Given the description of an element on the screen output the (x, y) to click on. 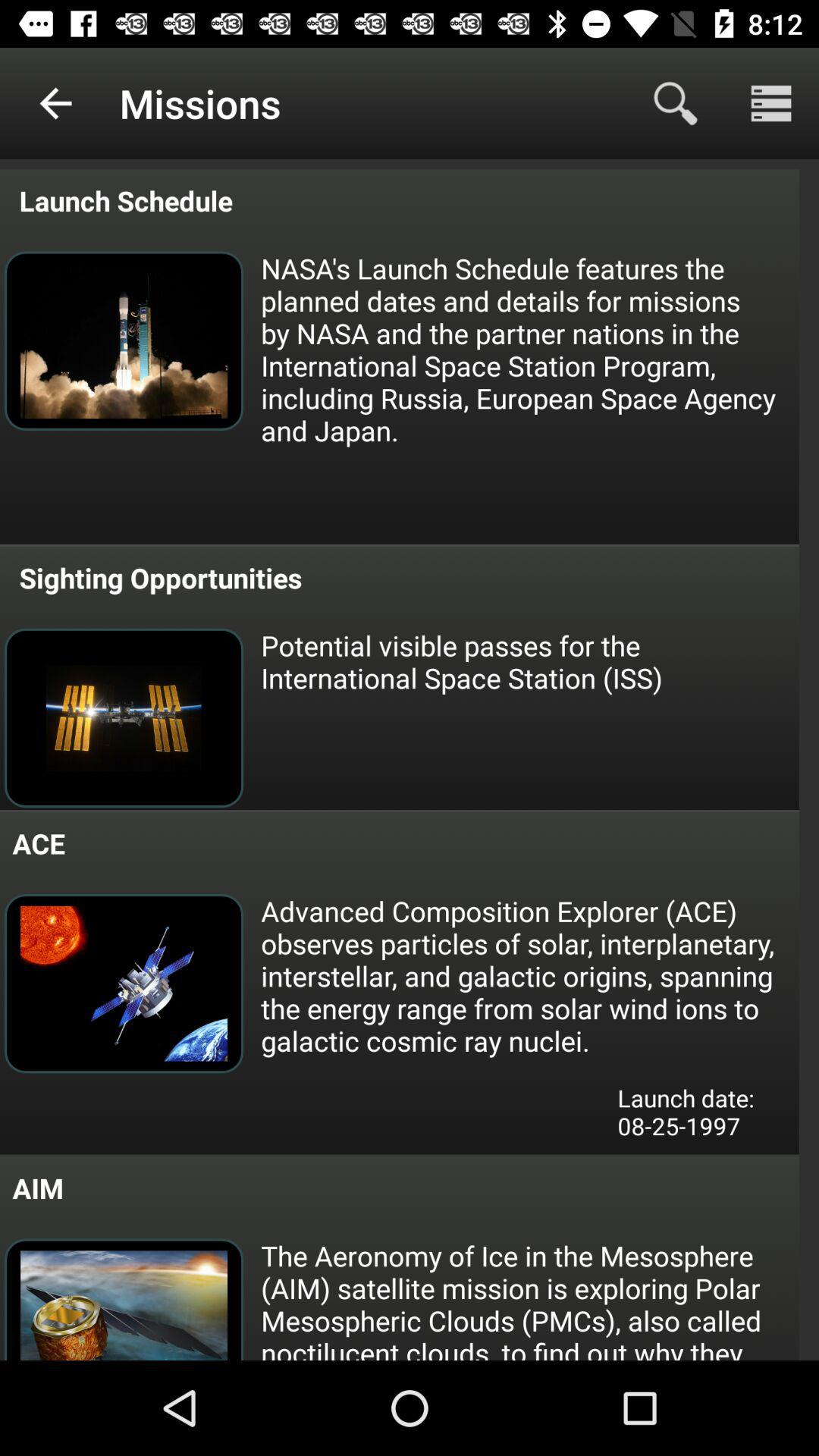
swipe until advanced composition explorer item (528, 975)
